Given the description of an element on the screen output the (x, y) to click on. 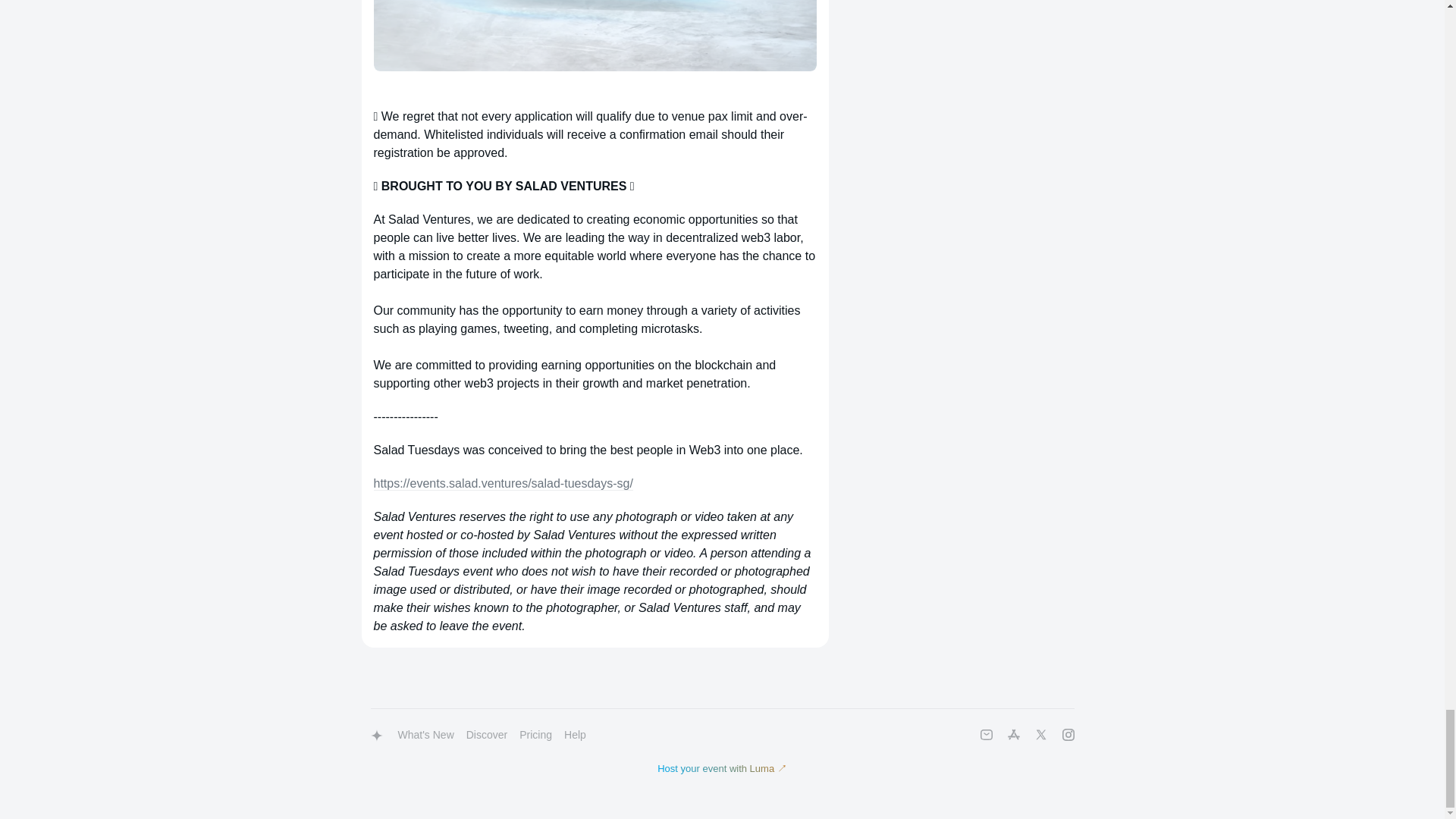
Pricing (535, 735)
Help (574, 735)
Discover (486, 735)
What's New (425, 735)
